Given the description of an element on the screen output the (x, y) to click on. 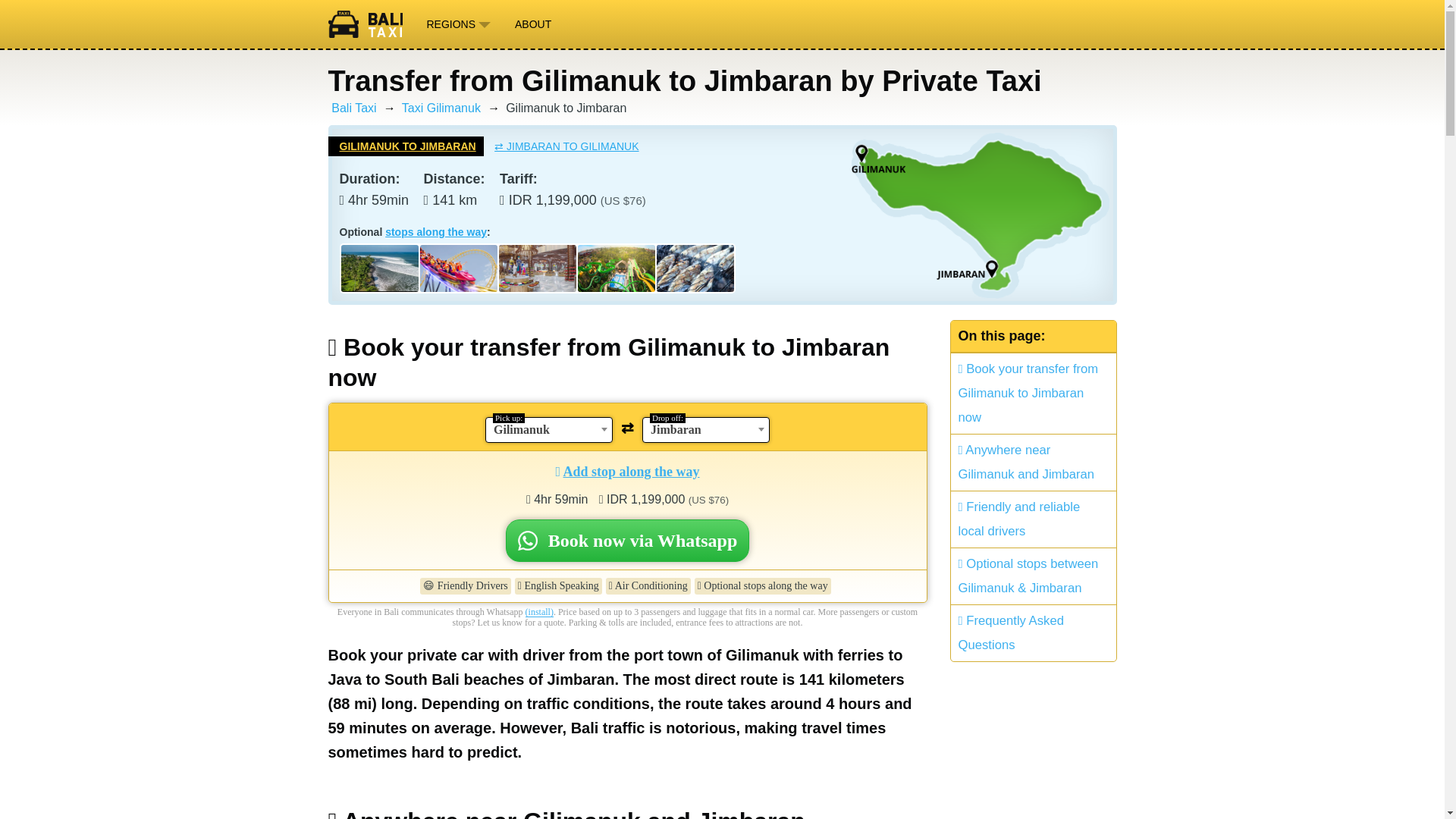
Jimbaran Fish Market (694, 267)
Bali Taxi (353, 107)
Waterbom Water Park (616, 267)
View all (435, 232)
Taxi Gilimanuk (440, 107)
Trans Studio Theme Park (458, 267)
ABOUT (532, 24)
Gilimanuk (548, 429)
GILIMANUK TO JIMBARAN (405, 146)
REGIONS (457, 24)
Bali Taxi (370, 24)
Medewi Surf Beach (379, 267)
Jimbaran (706, 429)
stops along the way (435, 232)
Krisna Souvenir Megastore (537, 267)
